Given the description of an element on the screen output the (x, y) to click on. 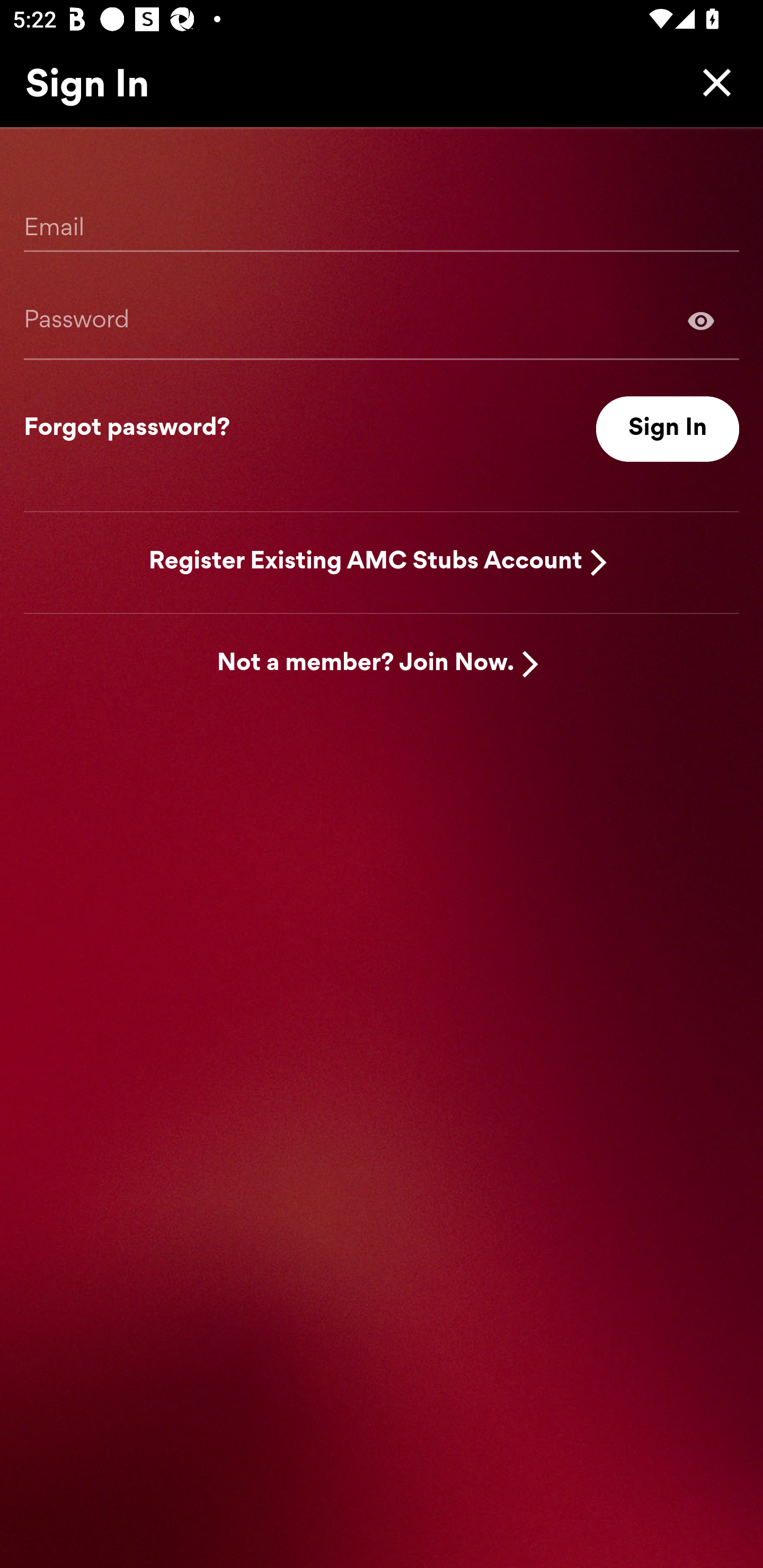
Close (712, 82)
Show Password (381, 320)
Show Password (701, 320)
Forgot password? (126, 428)
Sign In (667, 428)
Register Existing AMC Stubs Account (365, 561)
Not a member? Join Now. (365, 663)
